Given the description of an element on the screen output the (x, y) to click on. 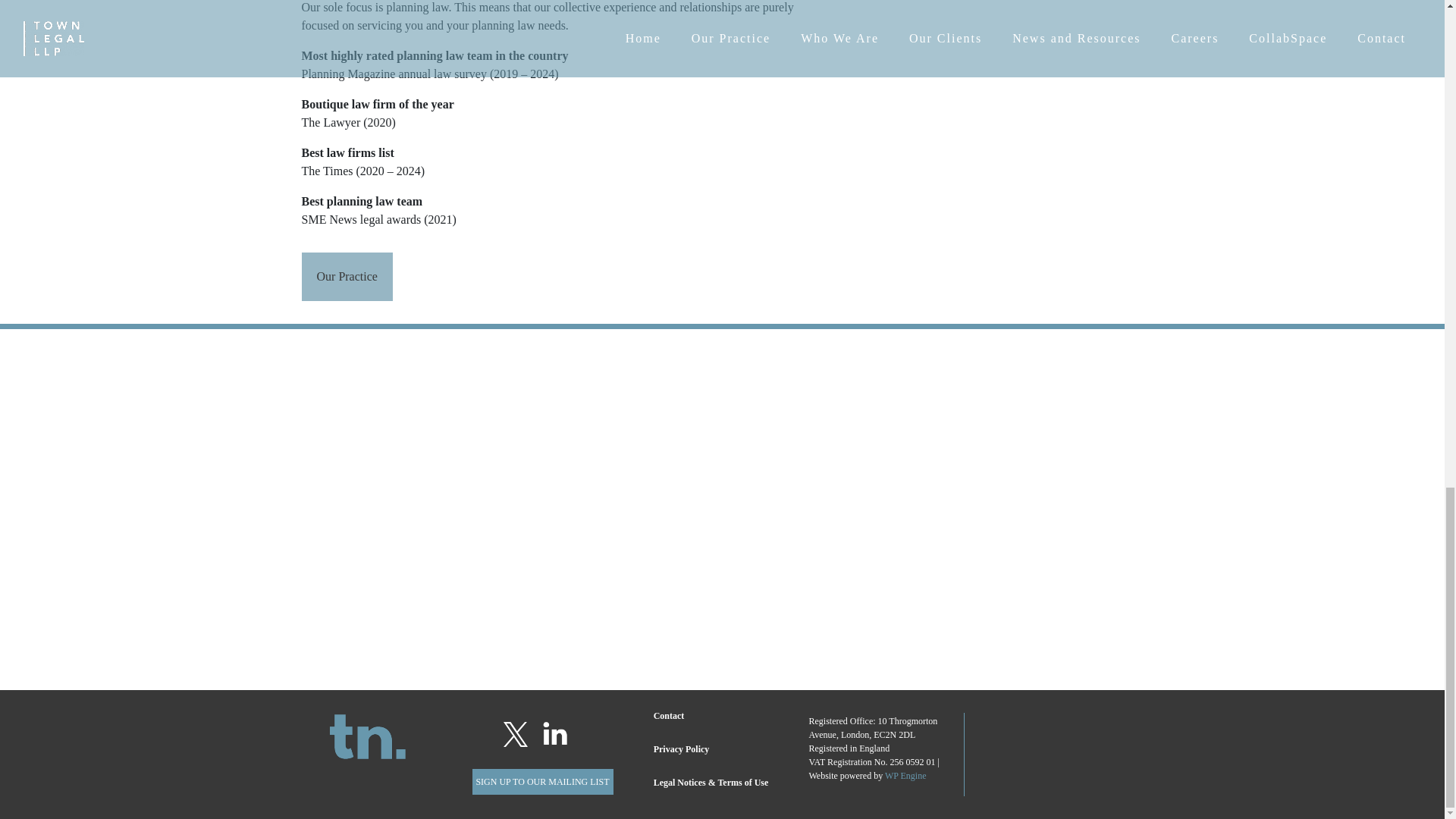
Our Practice (347, 275)
Contact (668, 715)
Privacy Policy (681, 748)
SIGN UP TO OUR MAILING LIST (541, 781)
WP Engine (905, 775)
